Given the description of an element on the screen output the (x, y) to click on. 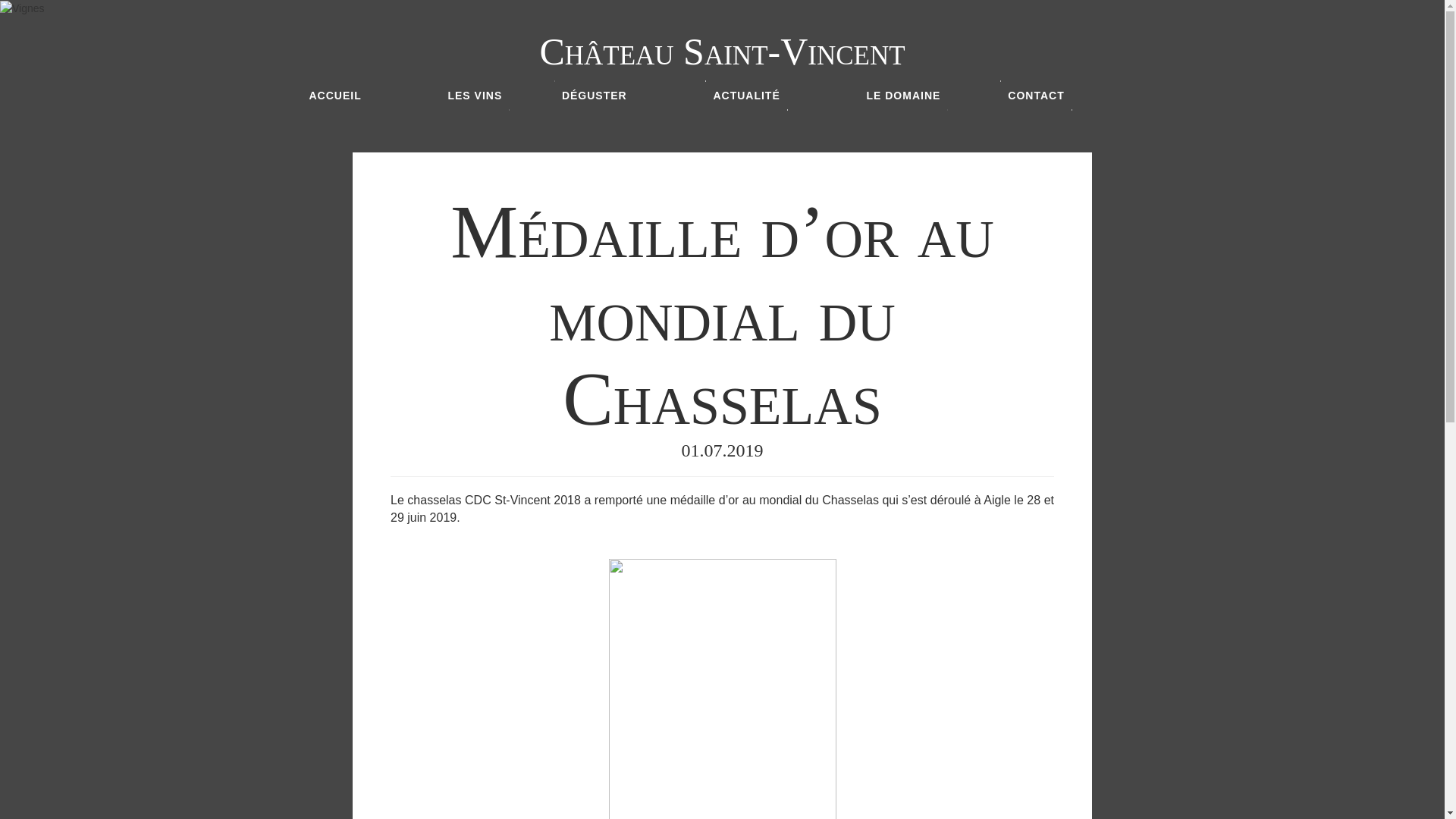
CONTACT Element type: text (1035, 95)
ACCUEIL Element type: text (335, 95)
LES VINS Element type: text (474, 95)
LE DOMAINE Element type: text (902, 95)
